Given the description of an element on the screen output the (x, y) to click on. 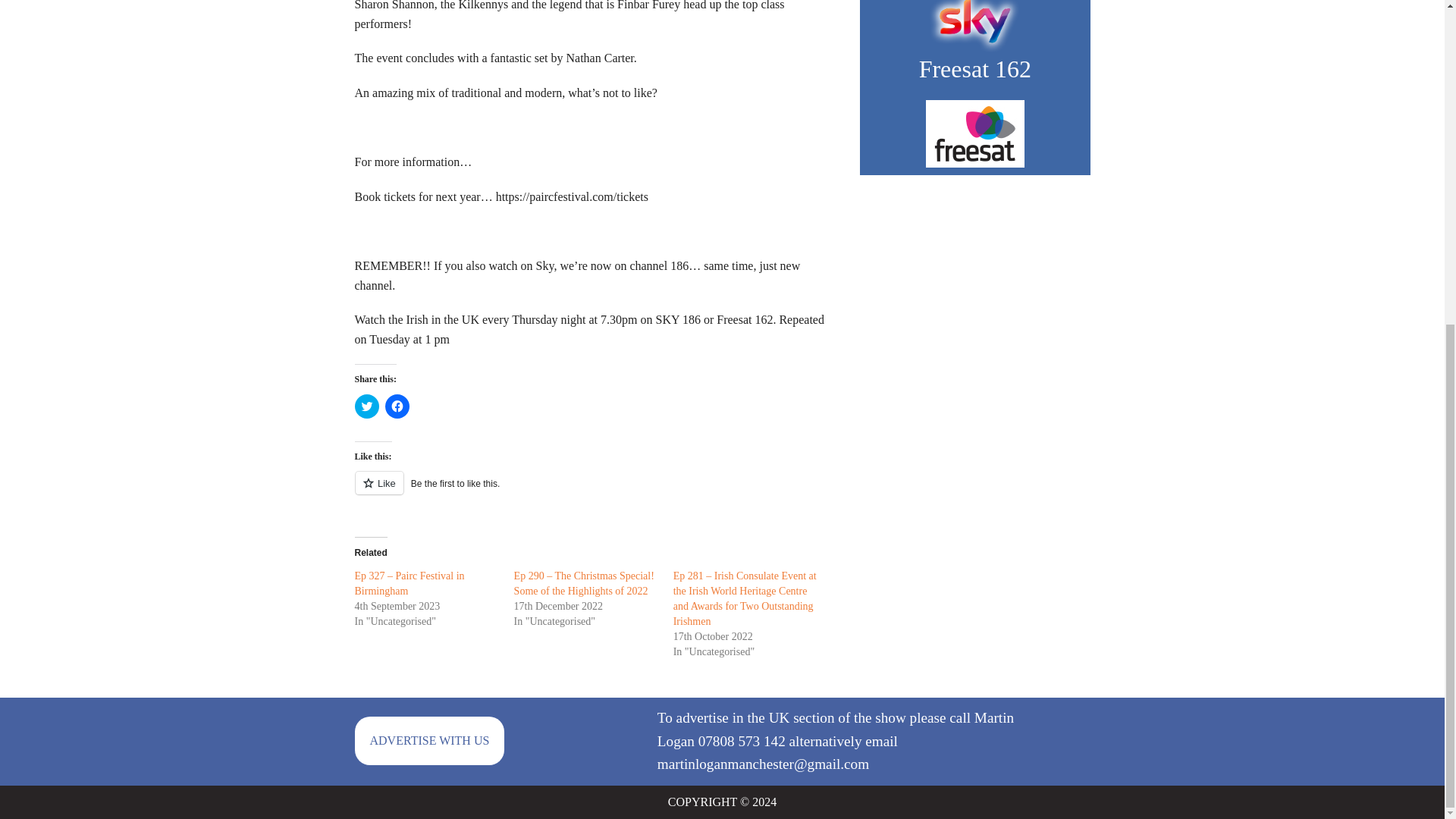
Like or Reblog (596, 491)
Click to share on Facebook (397, 405)
Click to share on Twitter (366, 405)
ADVERTISE WITH US (430, 740)
